Given the description of an element on the screen output the (x, y) to click on. 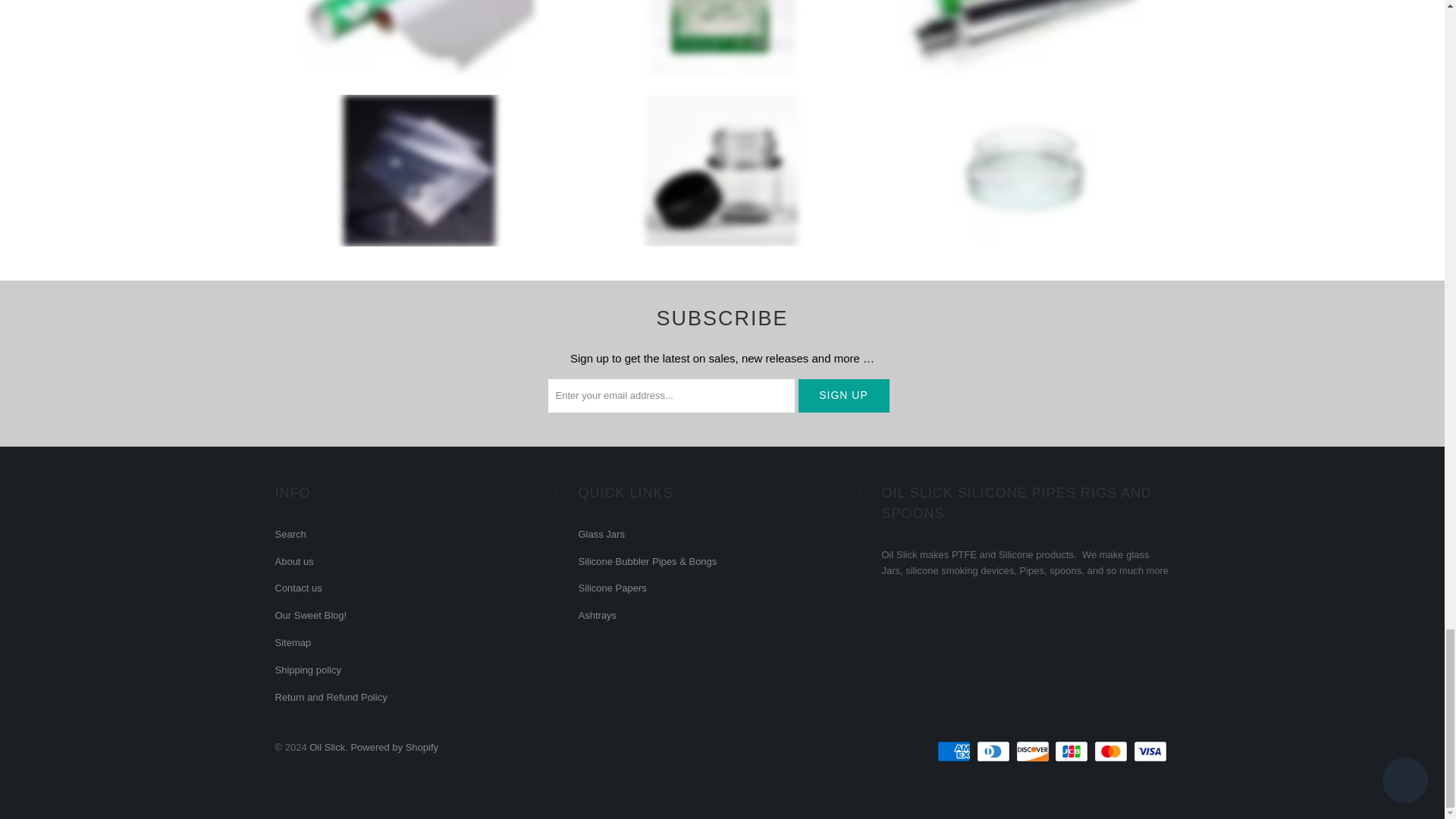
JCB (1072, 751)
Visa (1150, 751)
Sign Up (842, 395)
American Express (955, 751)
Discover (1034, 751)
Diners Club (994, 751)
Mastercard (1112, 751)
